Given the description of an element on the screen output the (x, y) to click on. 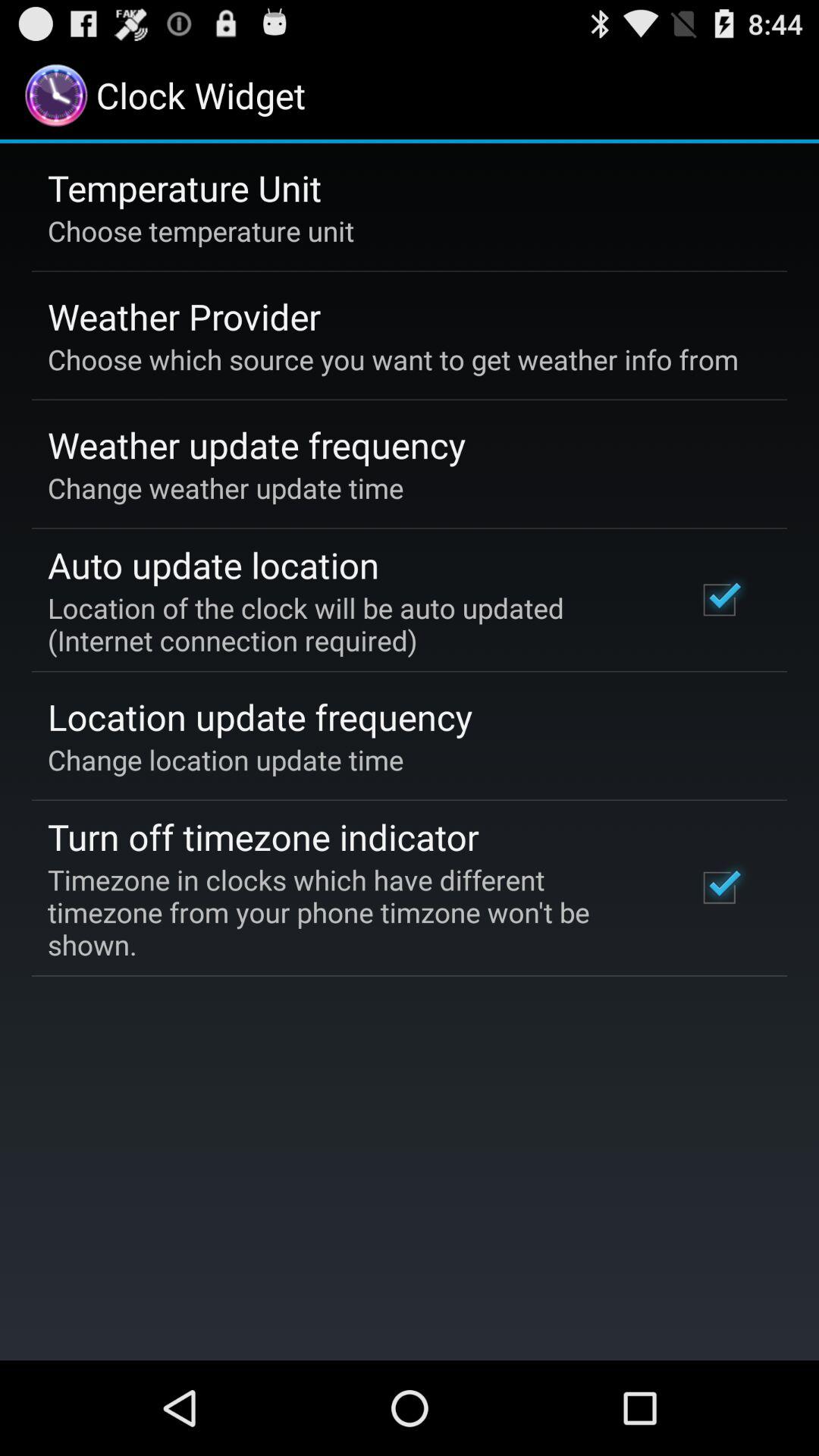
flip to the turn off timezone (262, 836)
